Given the description of an element on the screen output the (x, y) to click on. 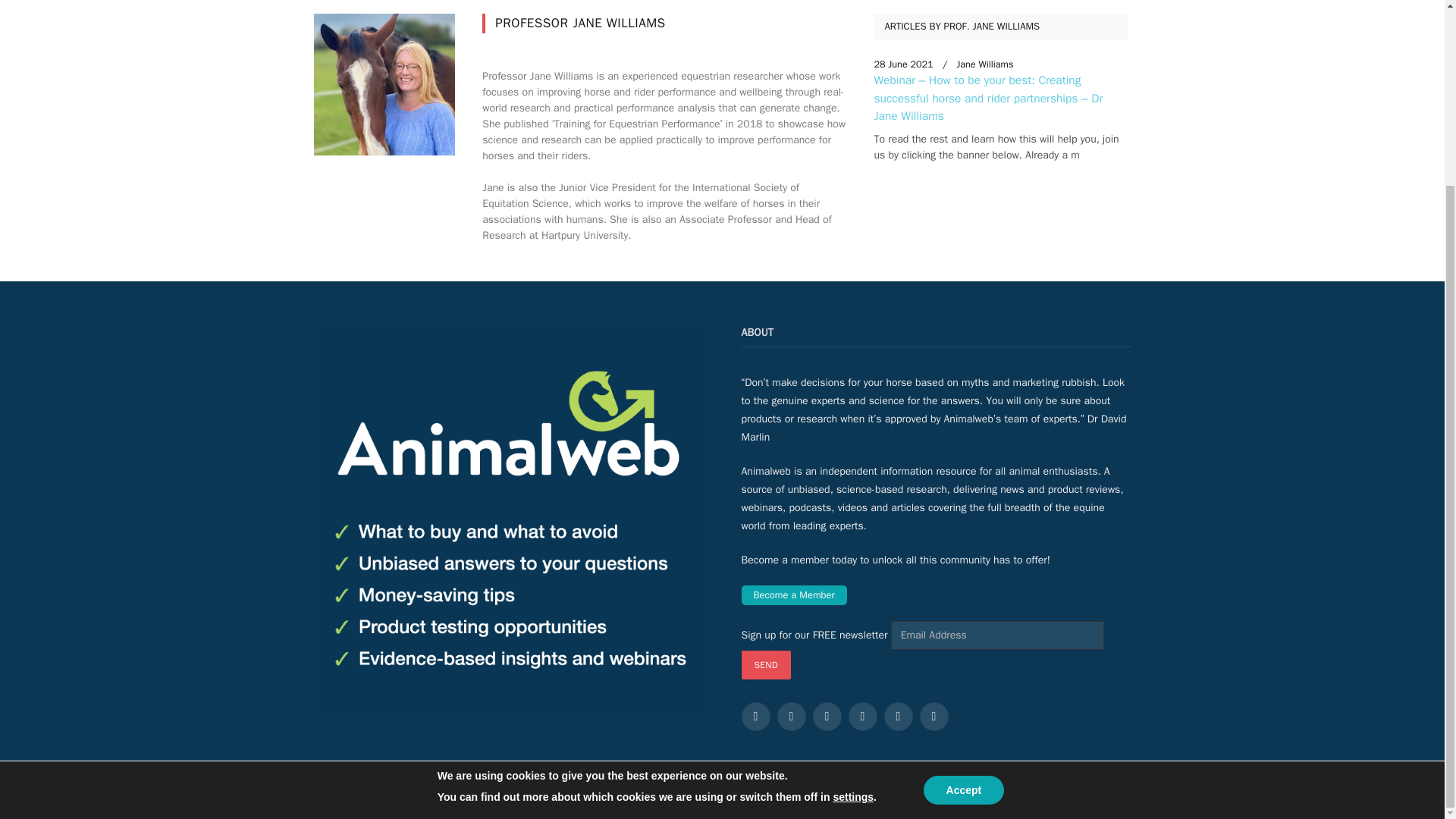
Send (765, 664)
